Given the description of an element on the screen output the (x, y) to click on. 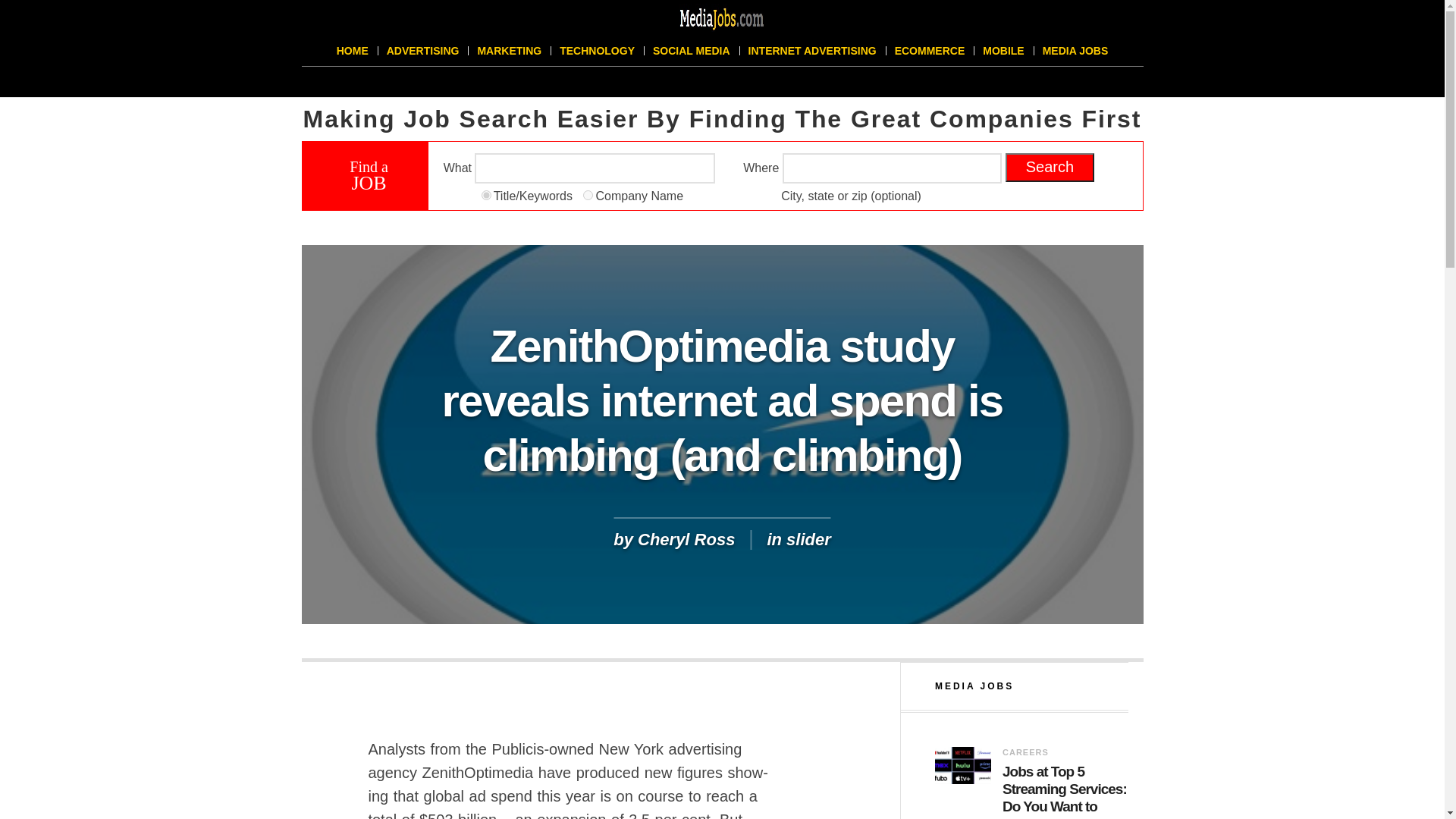
slider (808, 538)
HOME (352, 51)
MARKETING (508, 51)
MEDIA JOBS (1075, 51)
Cheryl Ross (686, 538)
ECOMMERCE (929, 51)
View all posts in slider (808, 538)
View all posts in Careers (1064, 751)
MOBILE (1003, 51)
SOCIAL MEDIA (691, 51)
